Given the description of an element on the screen output the (x, y) to click on. 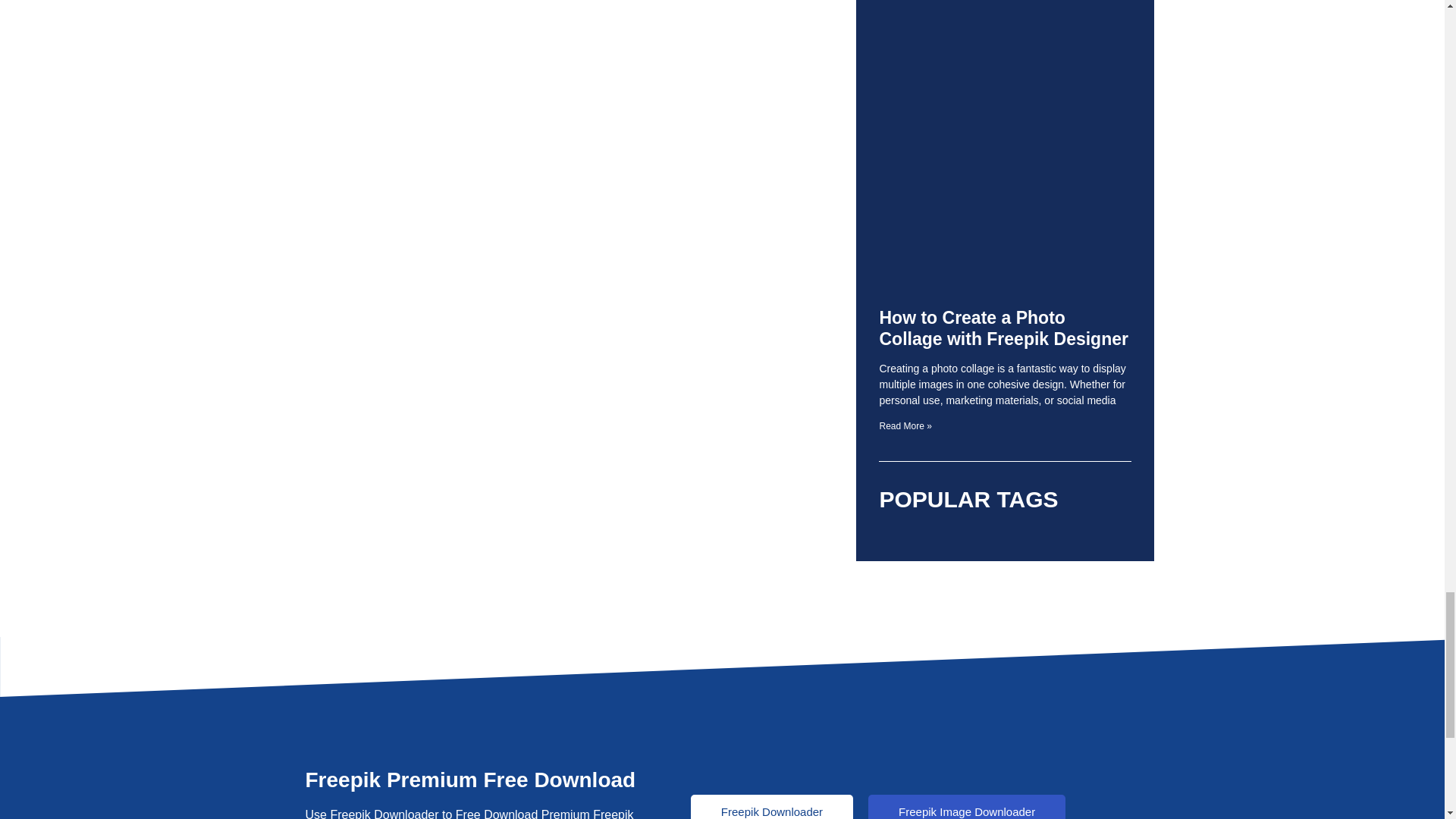
Freepik Image Downloader (966, 806)
Freepik Downloader (771, 806)
How to Create a Photo Collage with Freepik Designer (1002, 327)
